Given the description of an element on the screen output the (x, y) to click on. 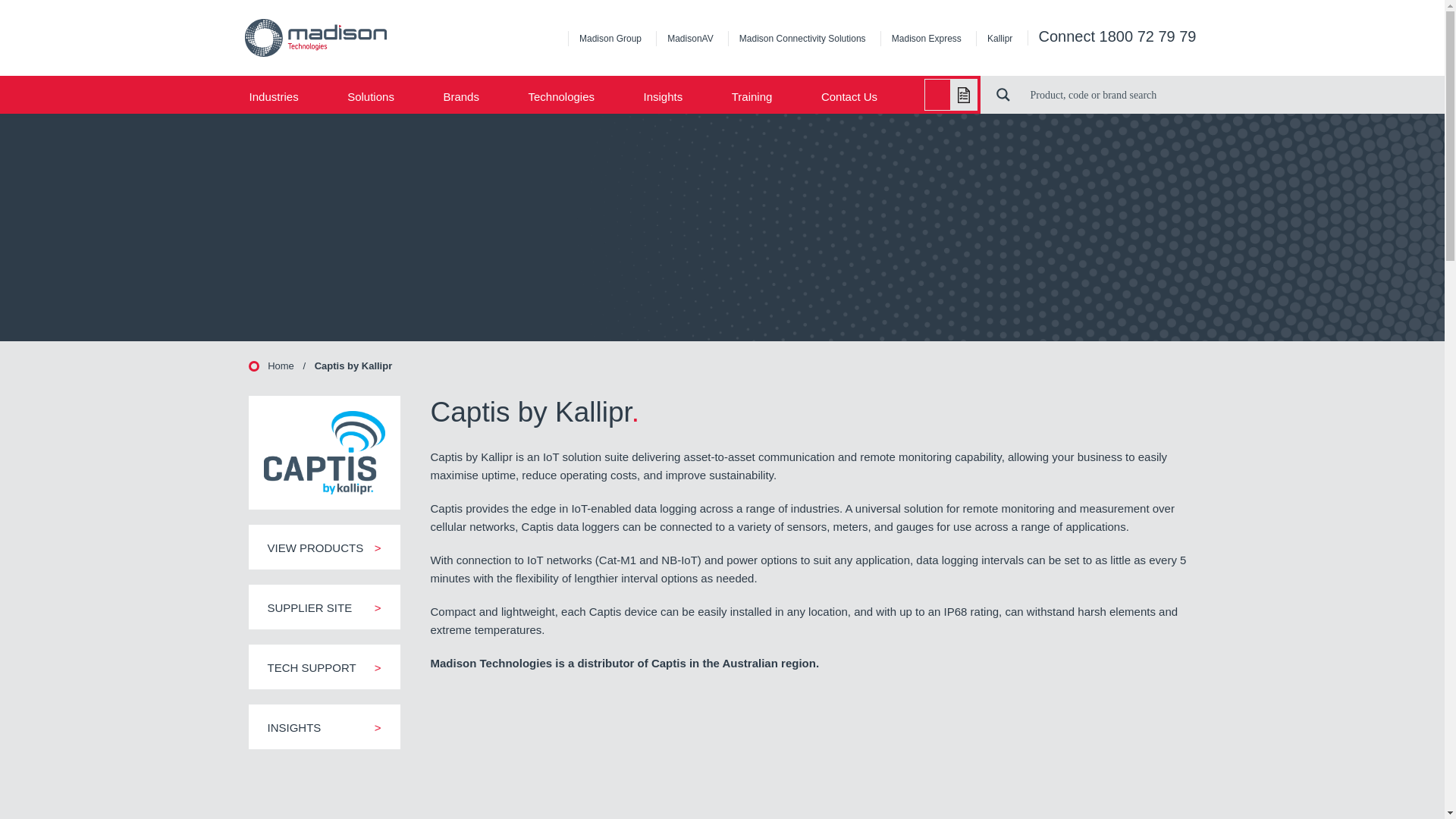
Madison Express (926, 38)
Solutions (380, 96)
Technologies (571, 96)
Madison Technologies (357, 37)
MadisonAV (689, 38)
Madison Group (609, 38)
Madison Connectivity Solutions (802, 38)
Brands (471, 96)
Connect 1800 72 79 79 (1117, 36)
Industries (284, 96)
